Given the description of an element on the screen output the (x, y) to click on. 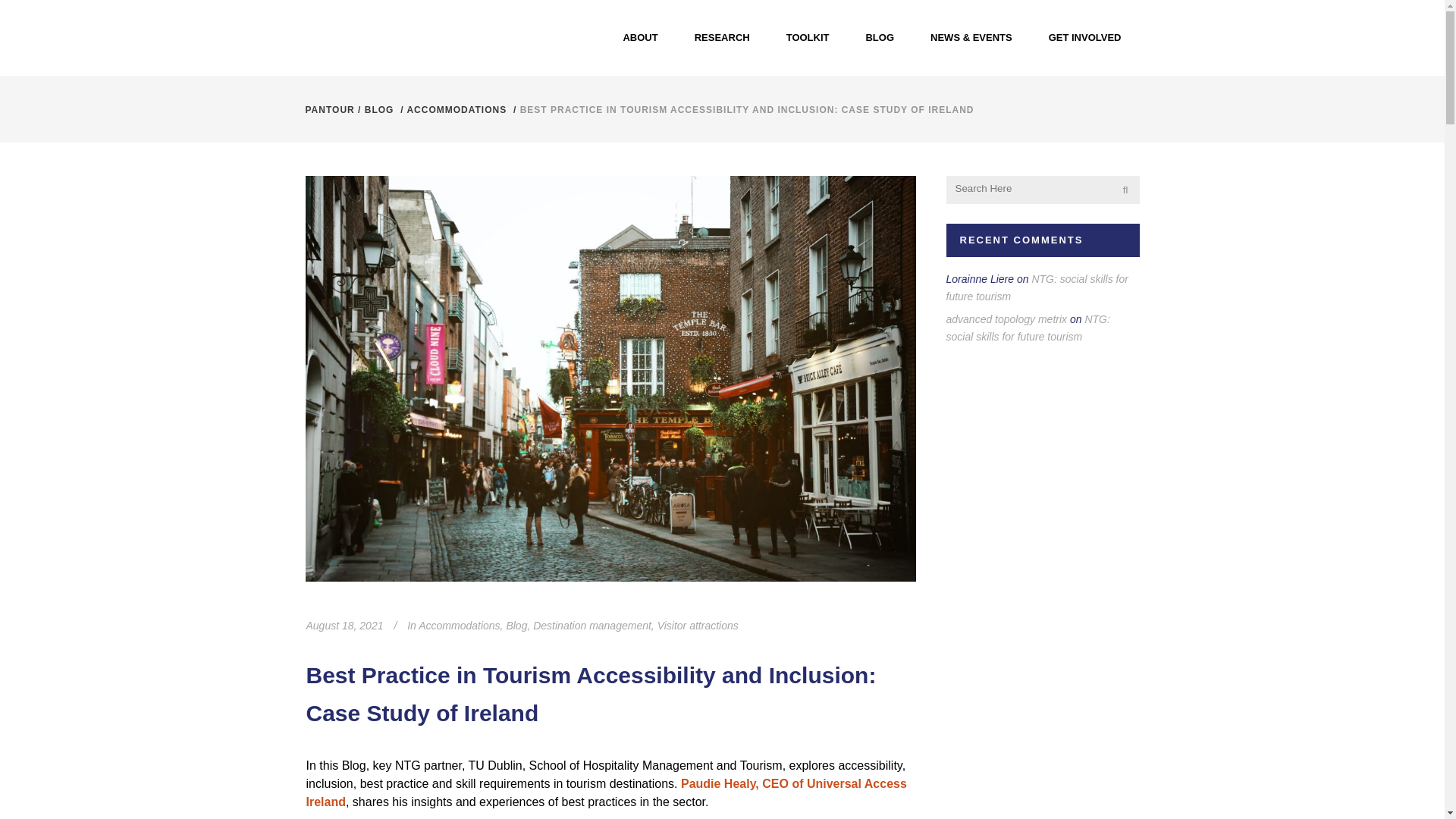
PANTOUR (328, 109)
GET INVOLVED (1085, 38)
ACCOMMODATIONS (456, 109)
BLOG (879, 38)
TOOLKIT (807, 38)
RESEARCH (722, 38)
ABOUT (639, 38)
BLOG (379, 109)
